Given the description of an element on the screen output the (x, y) to click on. 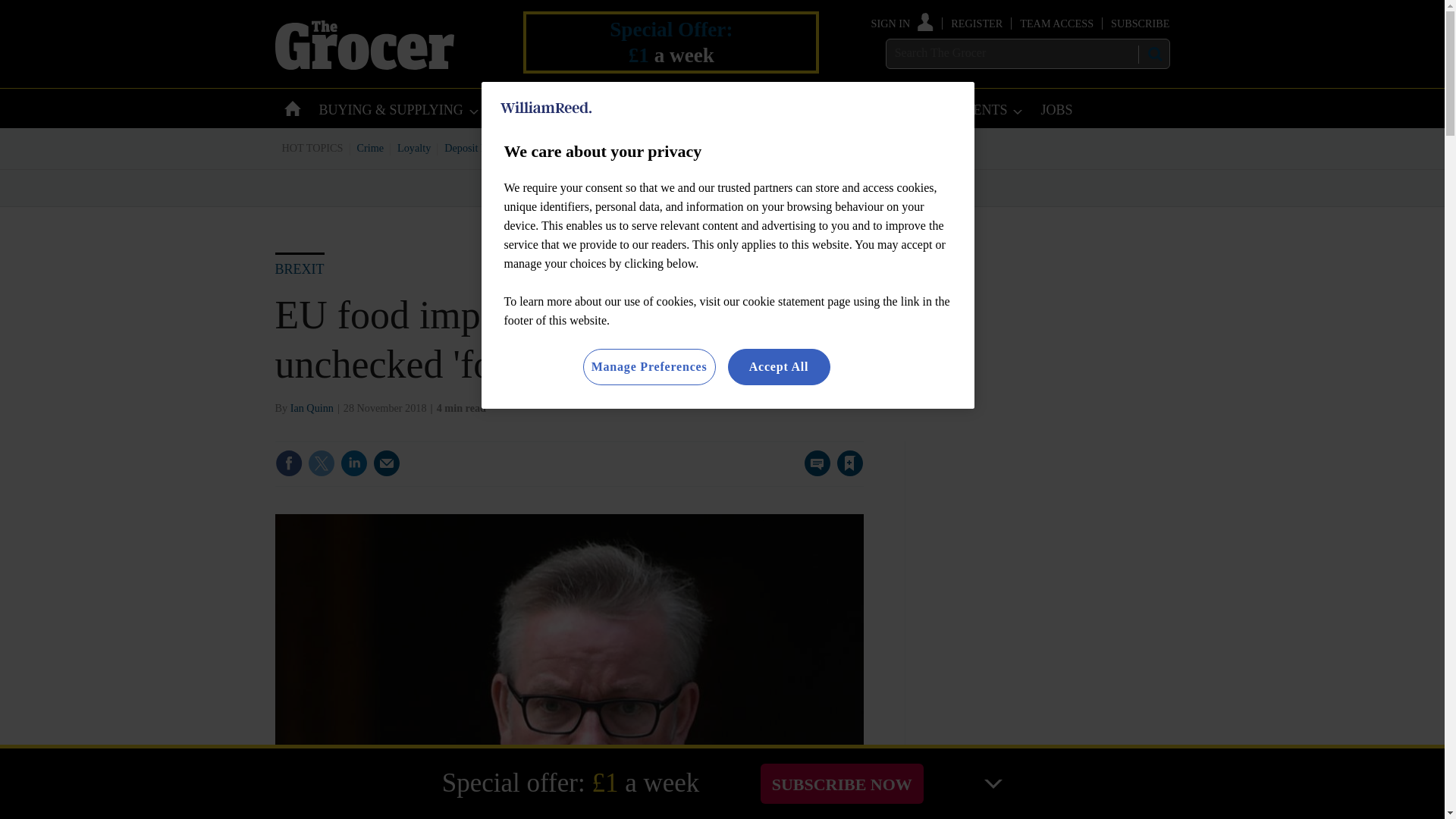
No comments (812, 472)
Share this on Twitter (320, 462)
Loyalty (414, 147)
Share this on Linked in (352, 462)
Email this article (386, 462)
Share this on Facebook (288, 462)
REGISTER (976, 23)
TEAM ACCESS (1056, 23)
SUBSCRIBE NOW (841, 783)
Crime (370, 147)
SUBSCRIBE (1139, 23)
Deposit Return Schemes (497, 147)
Cost of Living Crisis (699, 147)
SIGN IN (902, 23)
SEARCH (1153, 53)
